Given the description of an element on the screen output the (x, y) to click on. 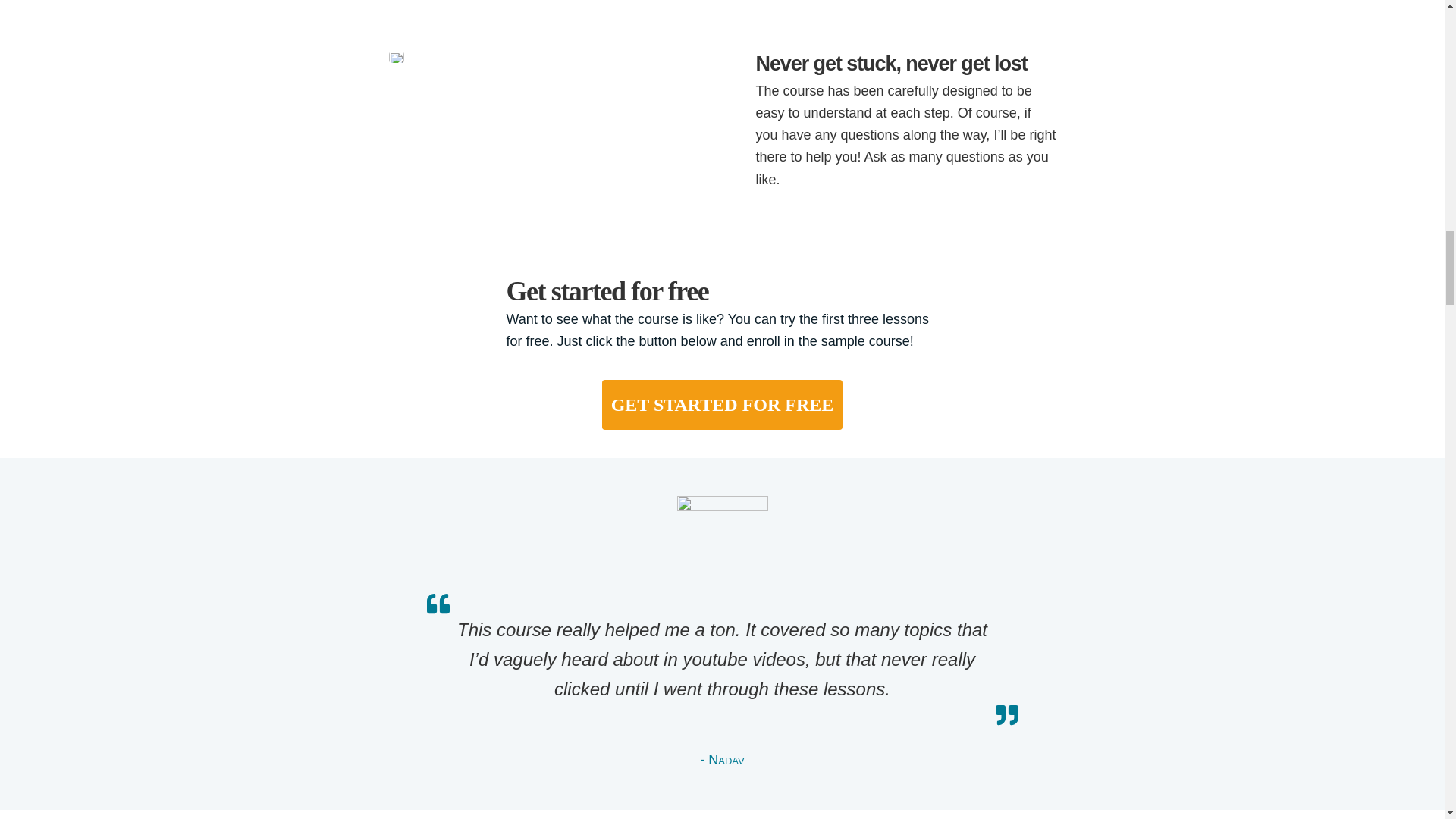
GET STARTED FOR FREE (722, 404)
